Given the description of an element on the screen output the (x, y) to click on. 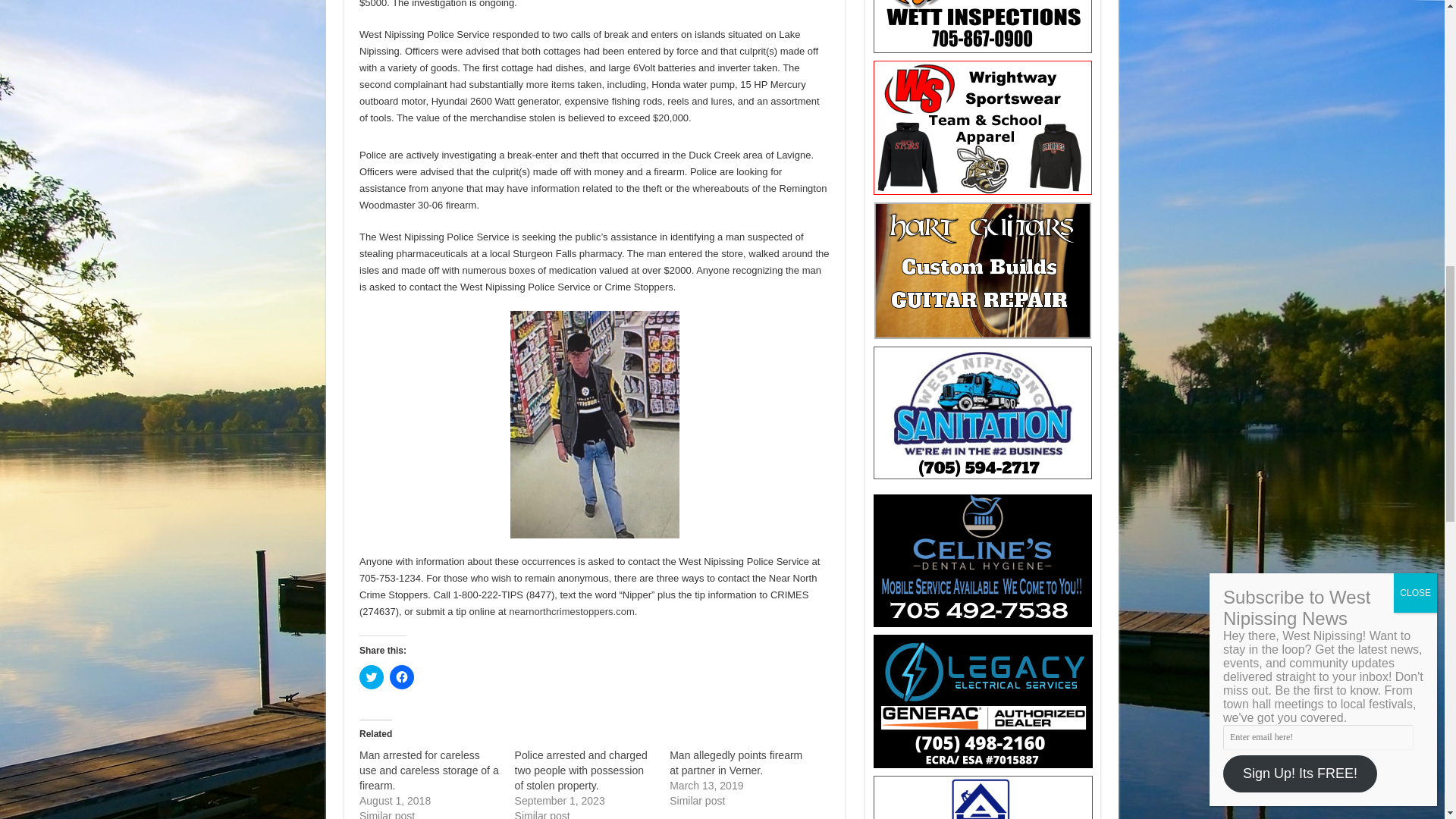
Man allegedly points firearm at partner in Verner. (735, 762)
nearnorthcrimestoppers.com (570, 611)
